Given the description of an element on the screen output the (x, y) to click on. 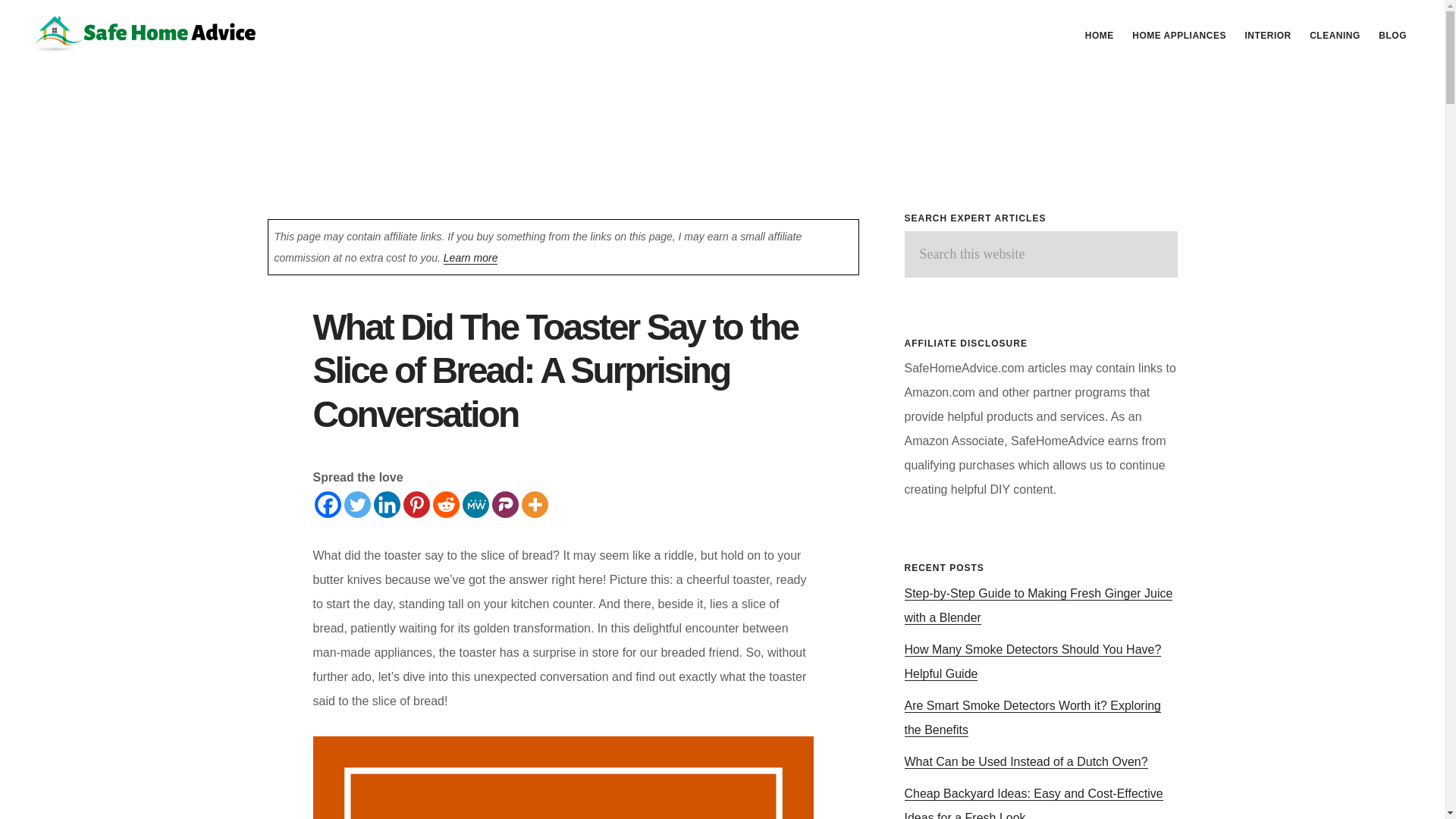
BLOG (1392, 35)
Learn more (470, 257)
SAFE HOME ADVICE (143, 32)
Pinterest (416, 504)
MeWe (476, 504)
Twitter (357, 504)
Reddit (445, 504)
HOME APPLIANCES (1178, 35)
Facebook (327, 504)
Parler (505, 504)
More (534, 504)
CLEANING (1334, 35)
